Given the description of an element on the screen output the (x, y) to click on. 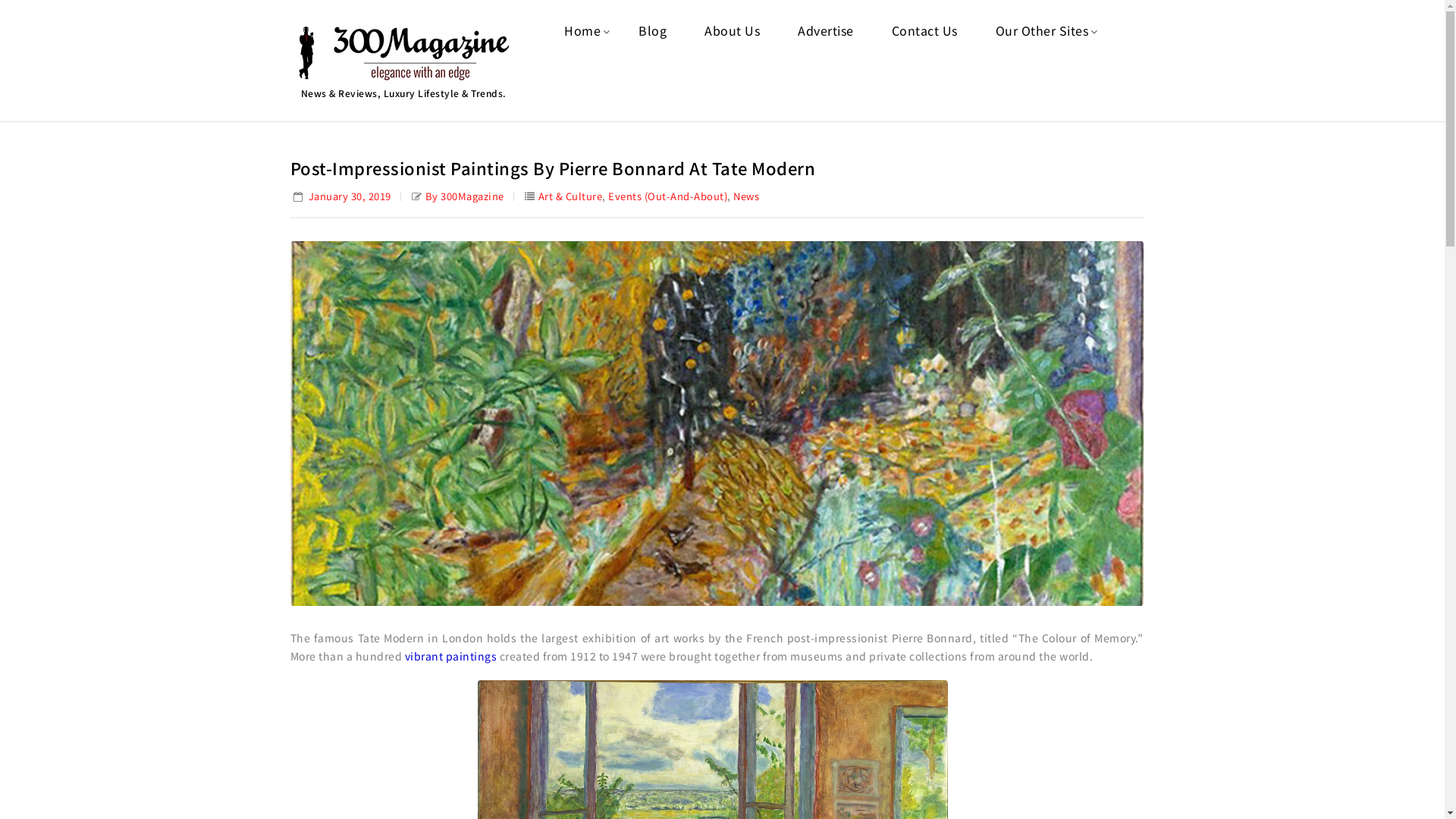
Art & Culture Element type: text (570, 195)
January 30, 2019 Element type: text (339, 195)
Events (Out-And-About) Element type: text (667, 195)
Home Element type: text (582, 29)
Advertise Element type: text (825, 29)
vibrant paintings Element type: text (450, 655)
By 300Magazine Element type: text (463, 195)
Our Other Sites Element type: text (1041, 29)
Blog Element type: text (652, 29)
News Element type: text (746, 195)
Contact Us Element type: text (924, 29)
About Us Element type: text (731, 29)
